Given the description of an element on the screen output the (x, y) to click on. 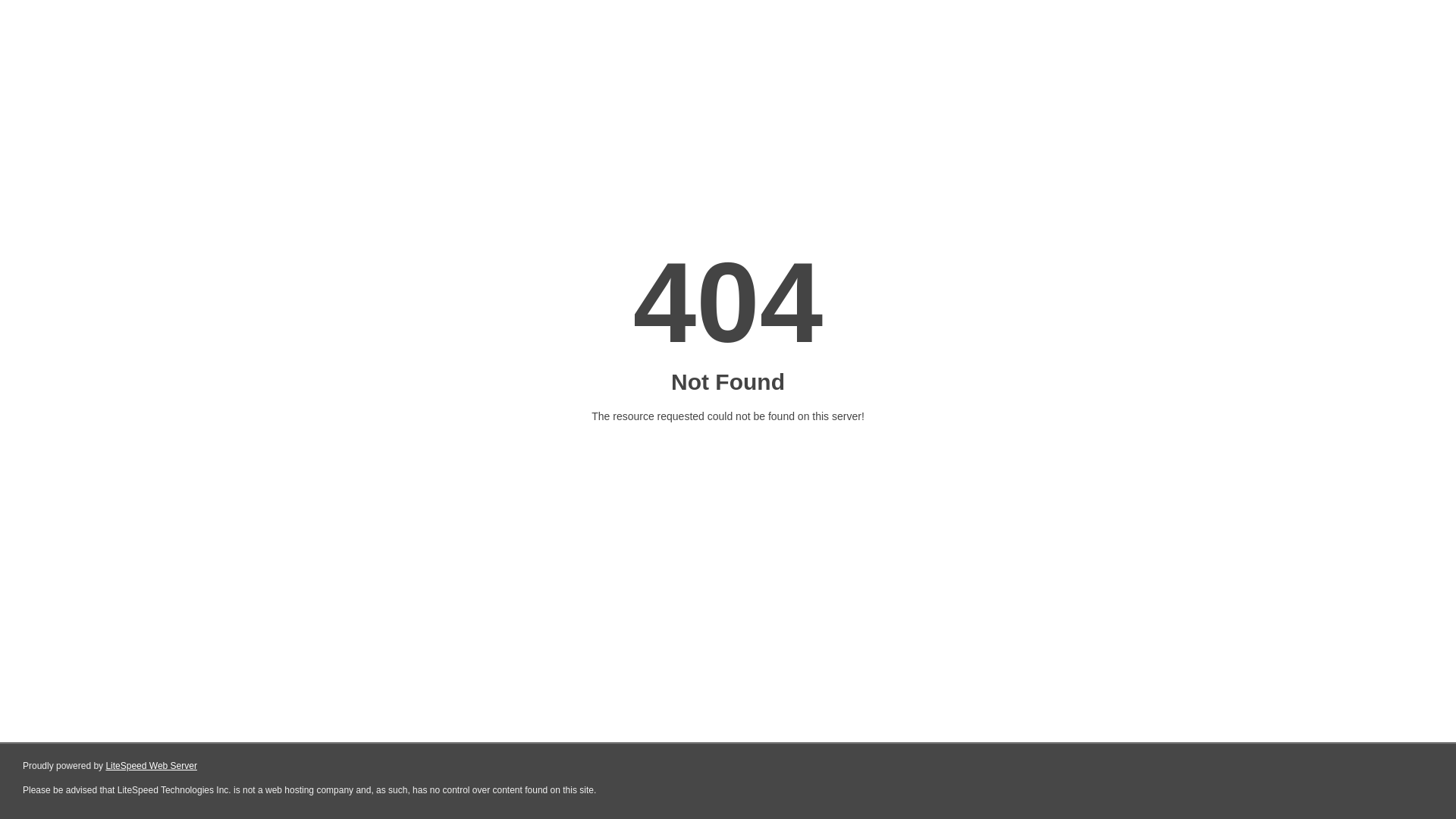
LiteSpeed Web Server Element type: text (151, 765)
